Given the description of an element on the screen output the (x, y) to click on. 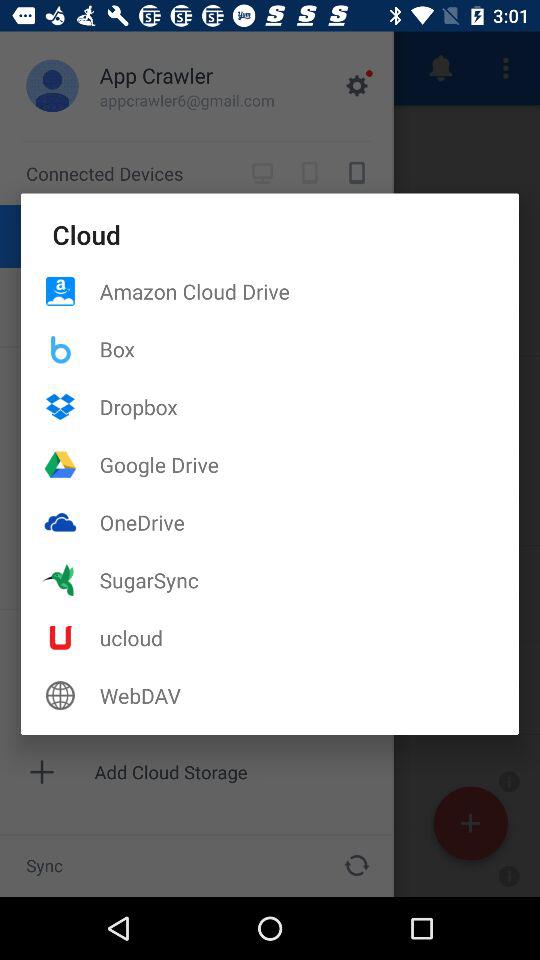
click the box (309, 348)
